Given the description of an element on the screen output the (x, y) to click on. 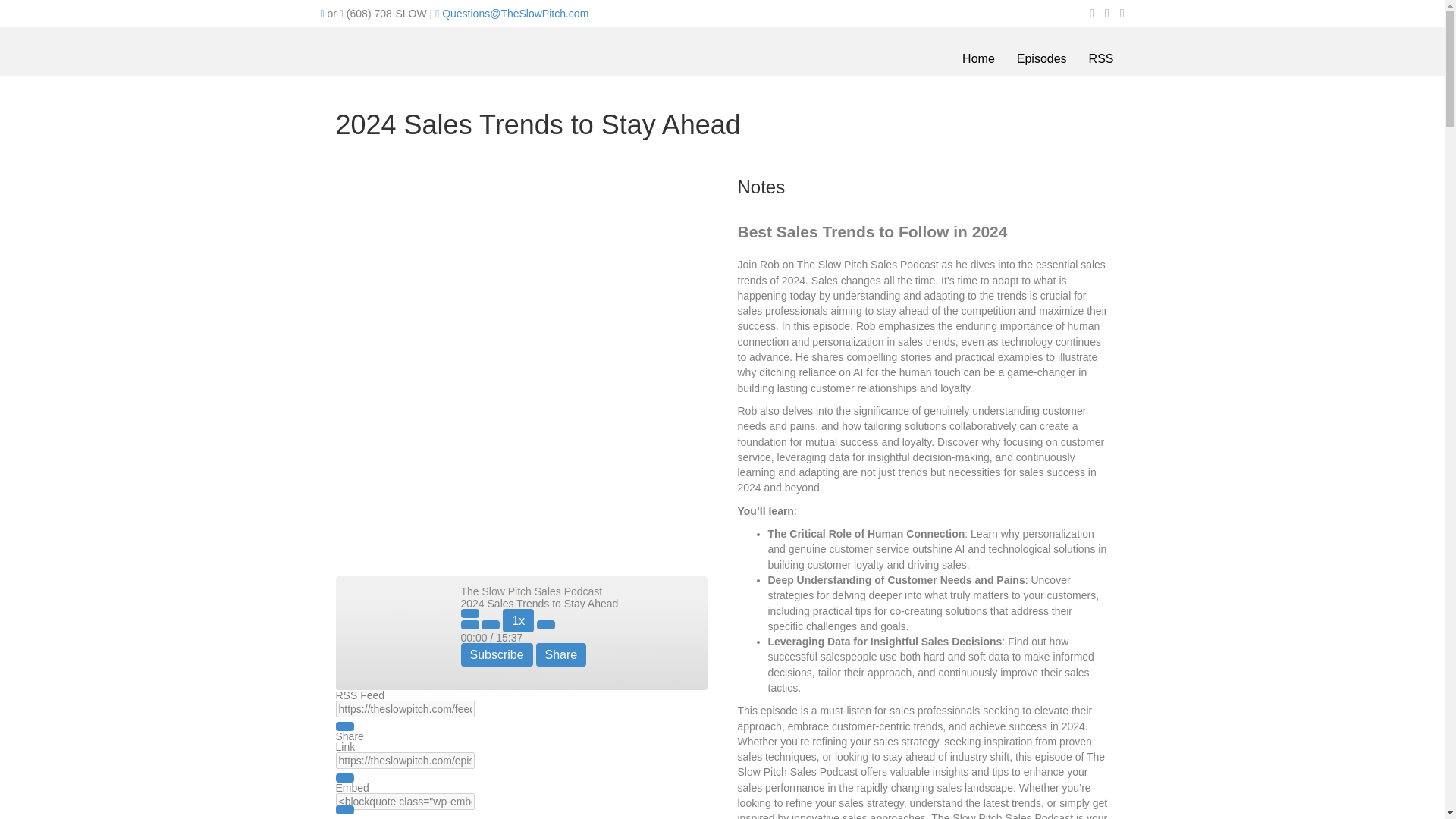
RSS (1101, 59)
Episodes (1041, 59)
Play (470, 613)
Share (560, 654)
Playback Speed (518, 620)
The Slow Pitch Sales Podcast (391, 633)
Subscribe (496, 654)
Rewind 10 Seconds (490, 624)
Fast Forward 30 seconds (545, 624)
Play Episode (470, 613)
Rewind 10 seconds (490, 624)
1x (518, 620)
Subscribe (496, 654)
Home (979, 59)
